Given the description of an element on the screen output the (x, y) to click on. 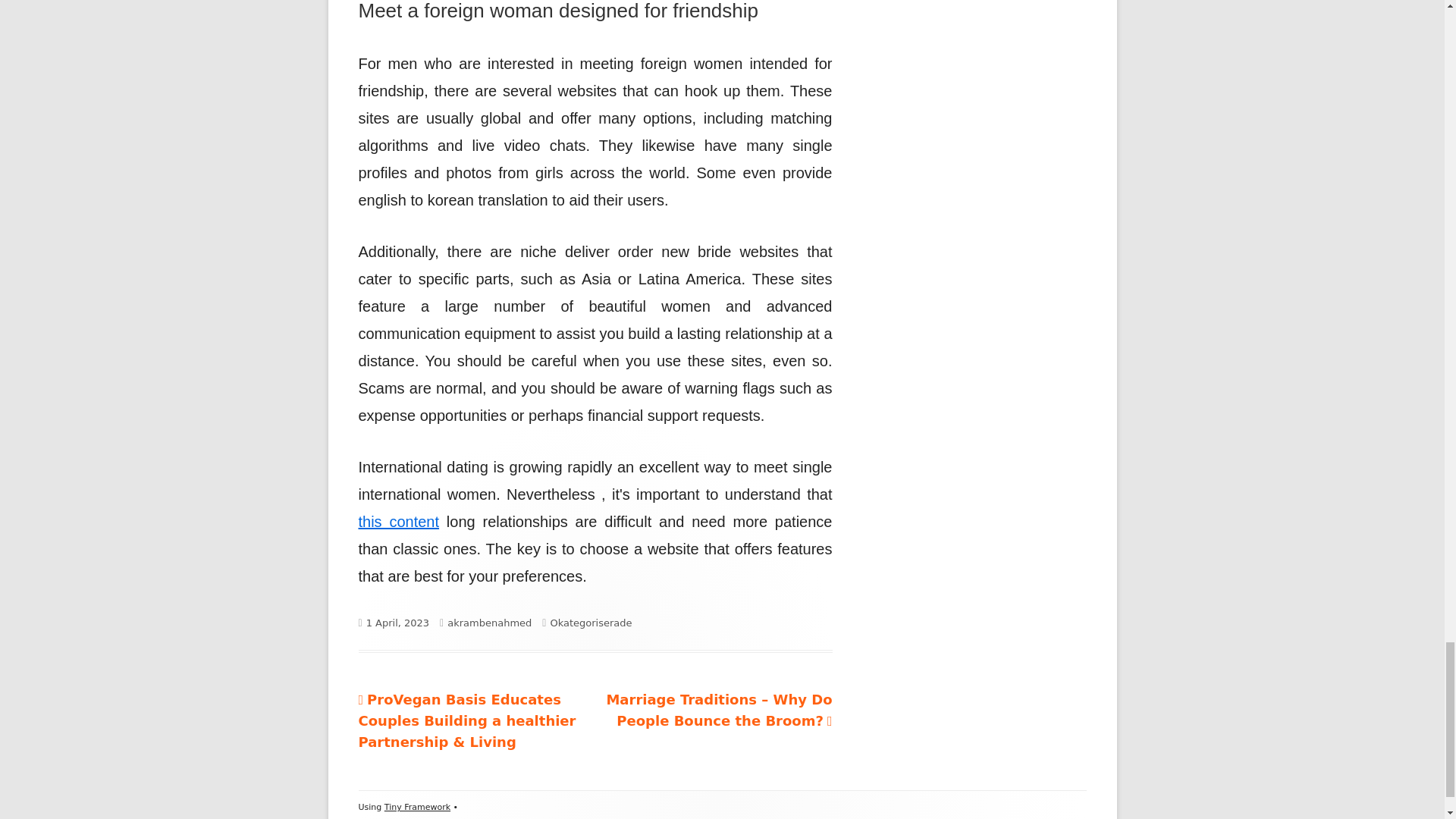
this content (398, 521)
1 April, 2023 (397, 622)
akrambenahmed (488, 622)
Okategoriserade (590, 622)
